Given the description of an element on the screen output the (x, y) to click on. 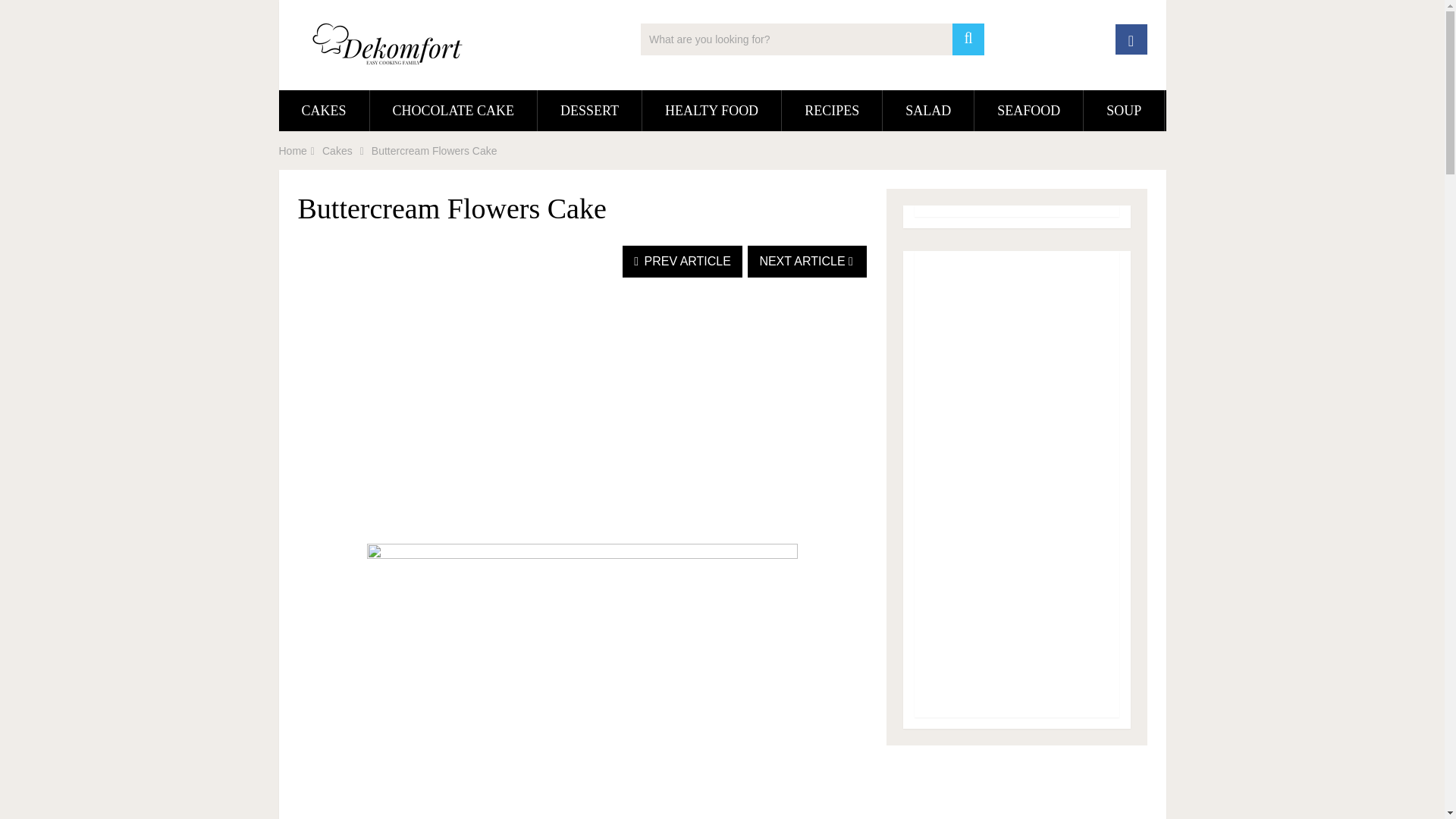
SALAD (928, 110)
PREV ARTICLE (682, 261)
HEALTY FOOD (711, 110)
RECIPES (831, 110)
NEXT ARTICLE (807, 261)
Cakes (336, 150)
DESSERT (589, 110)
SOUP (1123, 110)
CHOCOLATE CAKE (453, 110)
CAKES (324, 110)
SEAFOOD (1028, 110)
Home (293, 150)
